Given the description of an element on the screen output the (x, y) to click on. 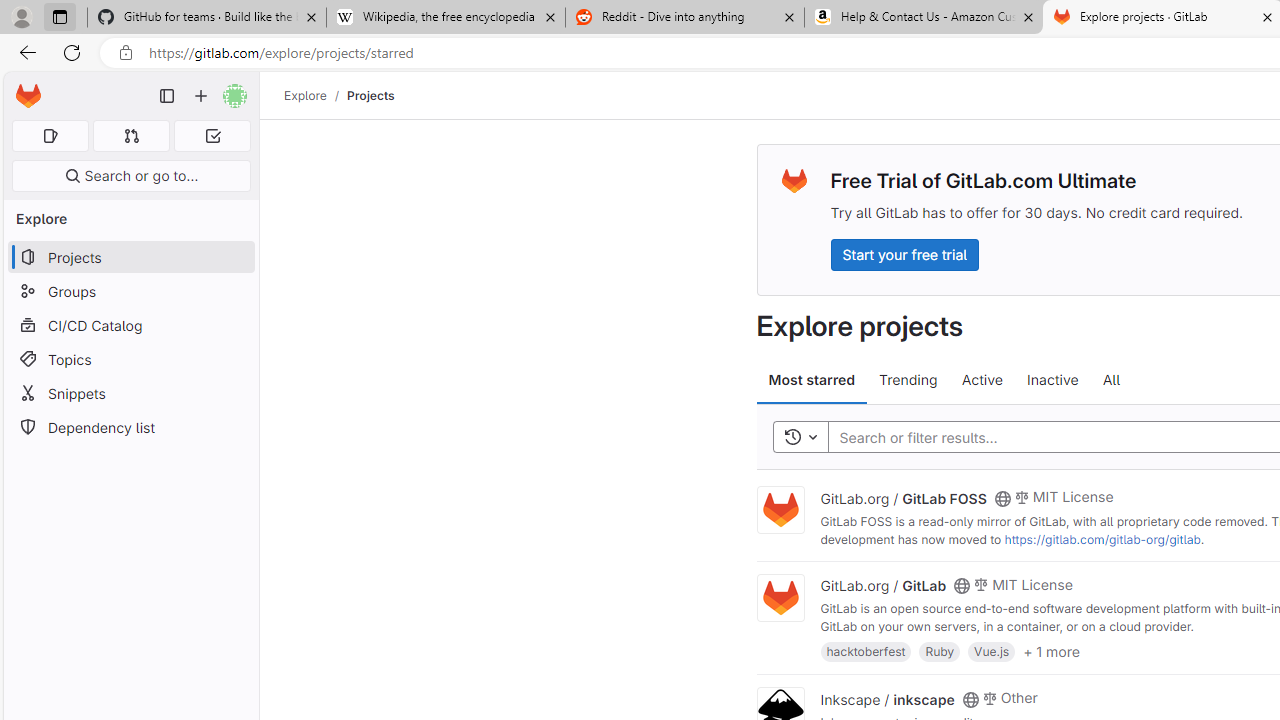
Class: s14 gl-mr-2 (989, 696)
Start your free trial (904, 254)
Active (982, 379)
GitLab.org / GitLab FOSS (903, 497)
CI/CD Catalog (130, 325)
